Given the description of an element on the screen output the (x, y) to click on. 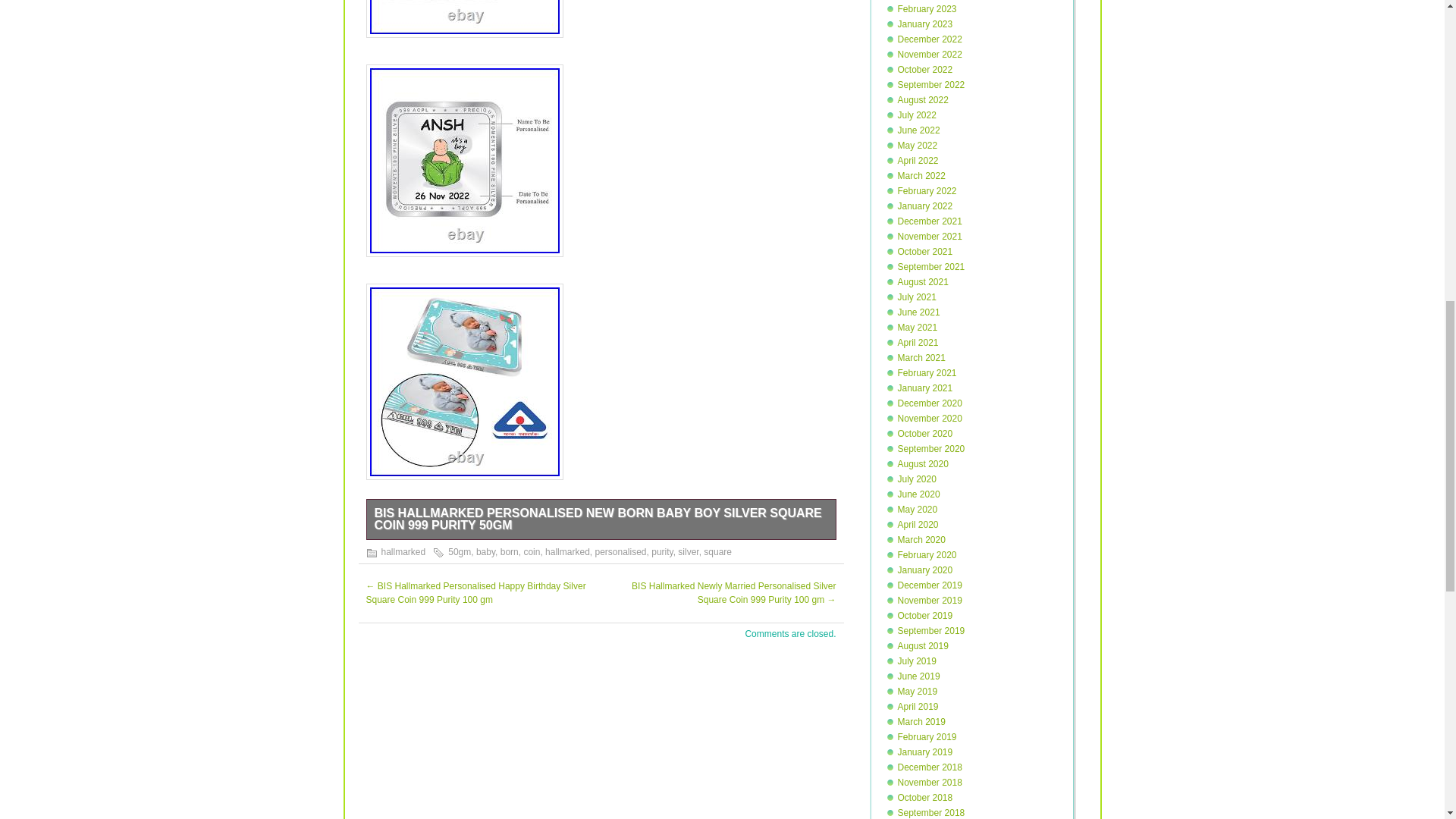
coin (531, 552)
square (717, 552)
born (509, 552)
View all posts in hallmarked (402, 552)
hallmarked (402, 552)
hallmarked (566, 552)
silver (688, 552)
baby (485, 552)
50gm (459, 552)
